Given the description of an element on the screen output the (x, y) to click on. 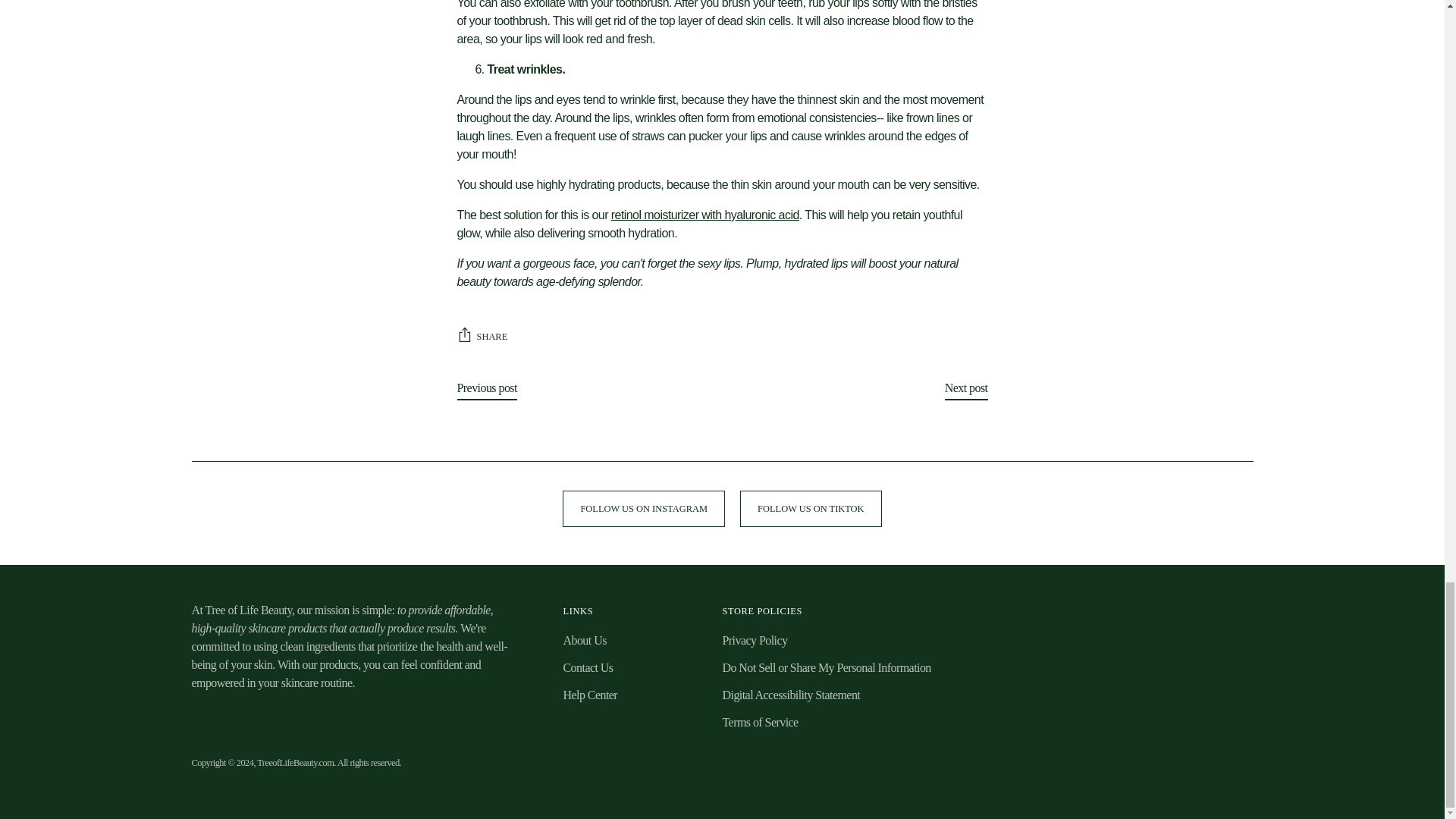
Previous post (486, 390)
SHARE (481, 336)
FOLLOW US ON INSTAGRAM (643, 508)
Next post (966, 390)
retinol moisturizer with hyaluronic acid (705, 214)
FOLLOW US ON TIKTOK (810, 508)
